Given the description of an element on the screen output the (x, y) to click on. 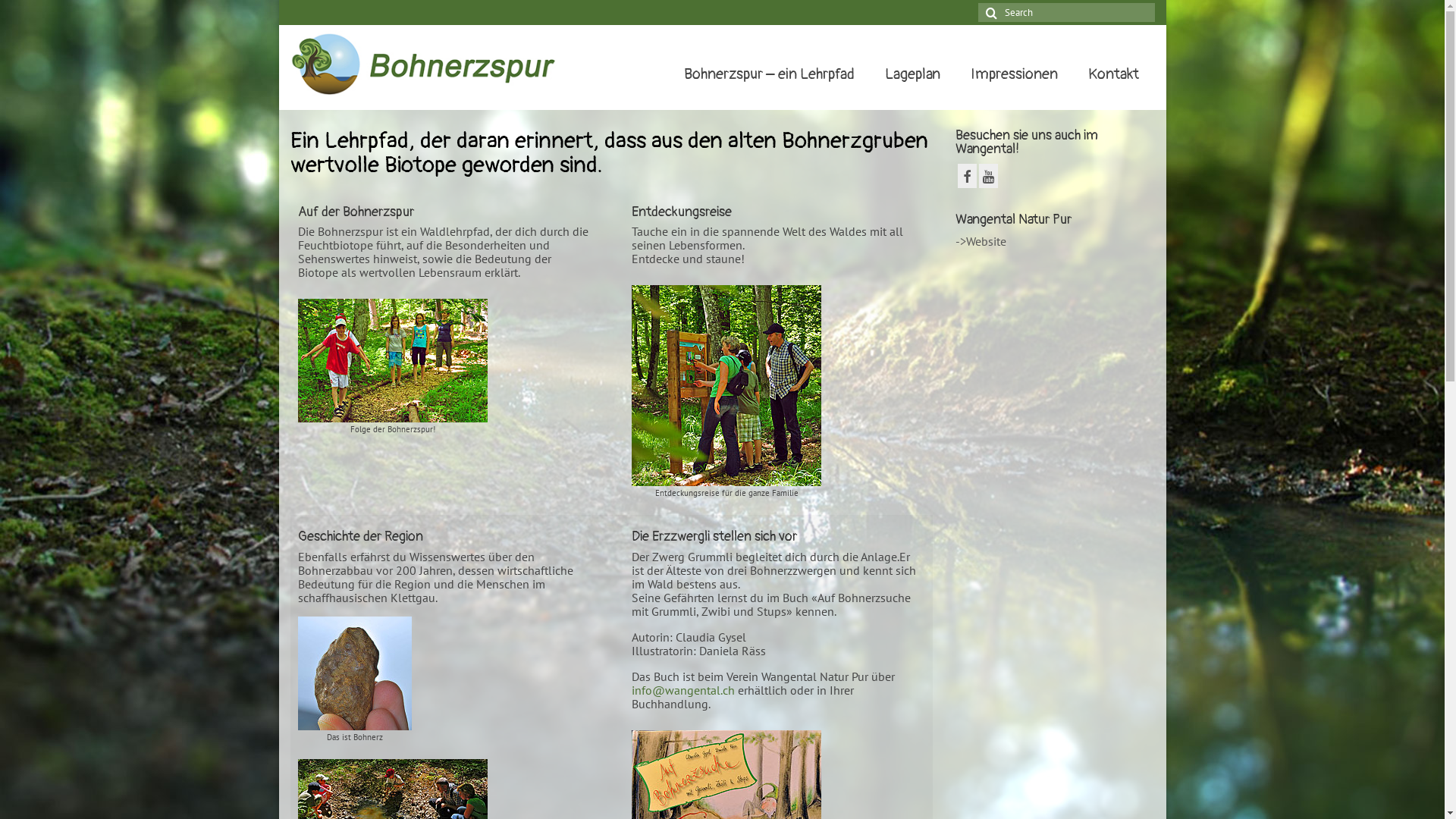
info@wangental.ch Element type: text (682, 689)
Lageplan Element type: text (912, 74)
->Website Element type: text (980, 240)
Kontakt Element type: text (1113, 74)
Impressionen Element type: text (1014, 74)
